Given the description of an element on the screen output the (x, y) to click on. 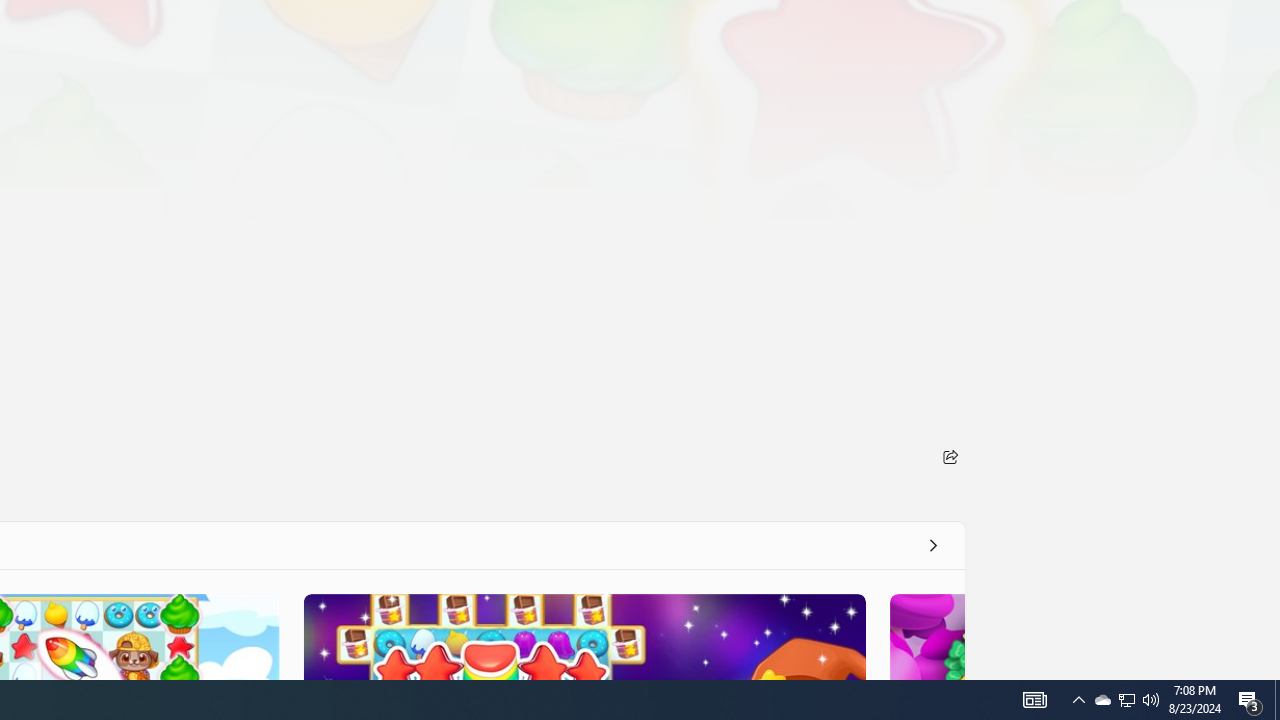
Share (950, 456)
See all (932, 544)
Screenshot 3 (584, 636)
Screenshot 4 (926, 636)
